Given the description of an element on the screen output the (x, y) to click on. 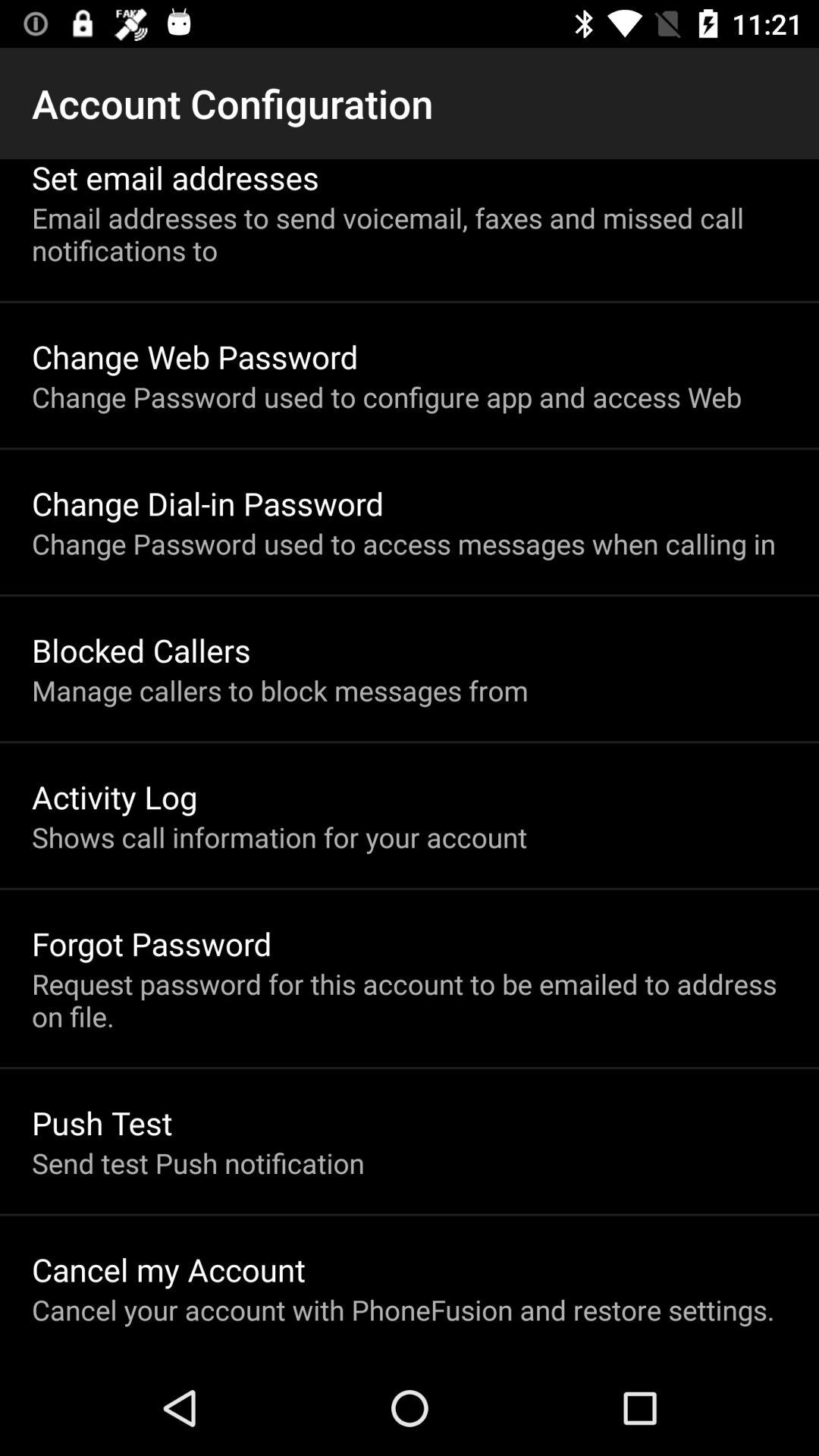
scroll until the shows call information (279, 836)
